Given the description of an element on the screen output the (x, y) to click on. 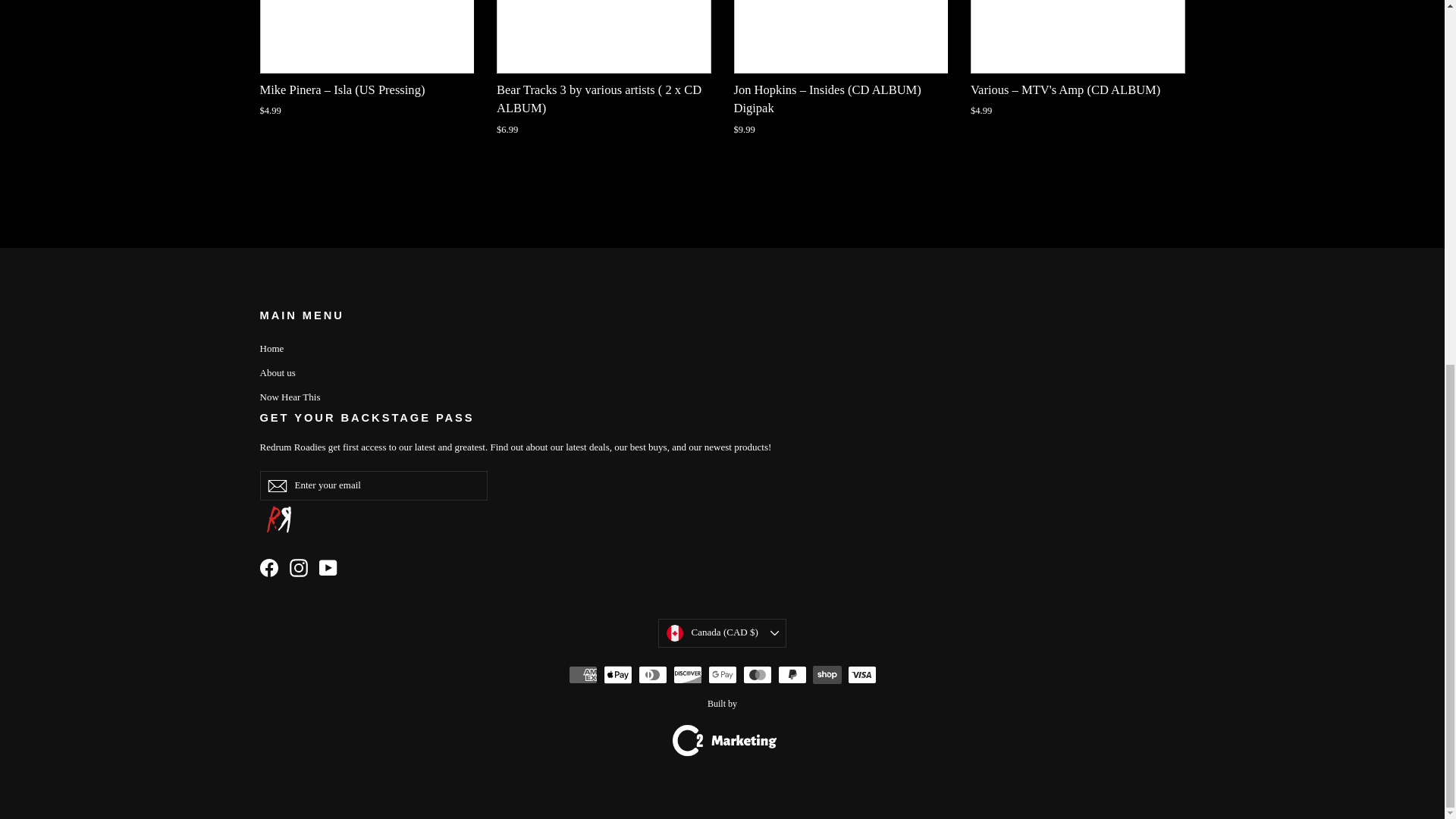
About us (722, 373)
Now Hear This (722, 397)
YouTube (327, 567)
Apple Pay (617, 674)
Facebook (268, 567)
Redrum Records  on YouTube (327, 567)
Mastercard (756, 674)
PayPal (791, 674)
Diners Club (652, 674)
Redrum Records  on Facebook (268, 567)
American Express (582, 674)
Home (722, 349)
Shop Pay (826, 674)
Google Pay (721, 674)
Discover (686, 674)
